Given the description of an element on the screen output the (x, y) to click on. 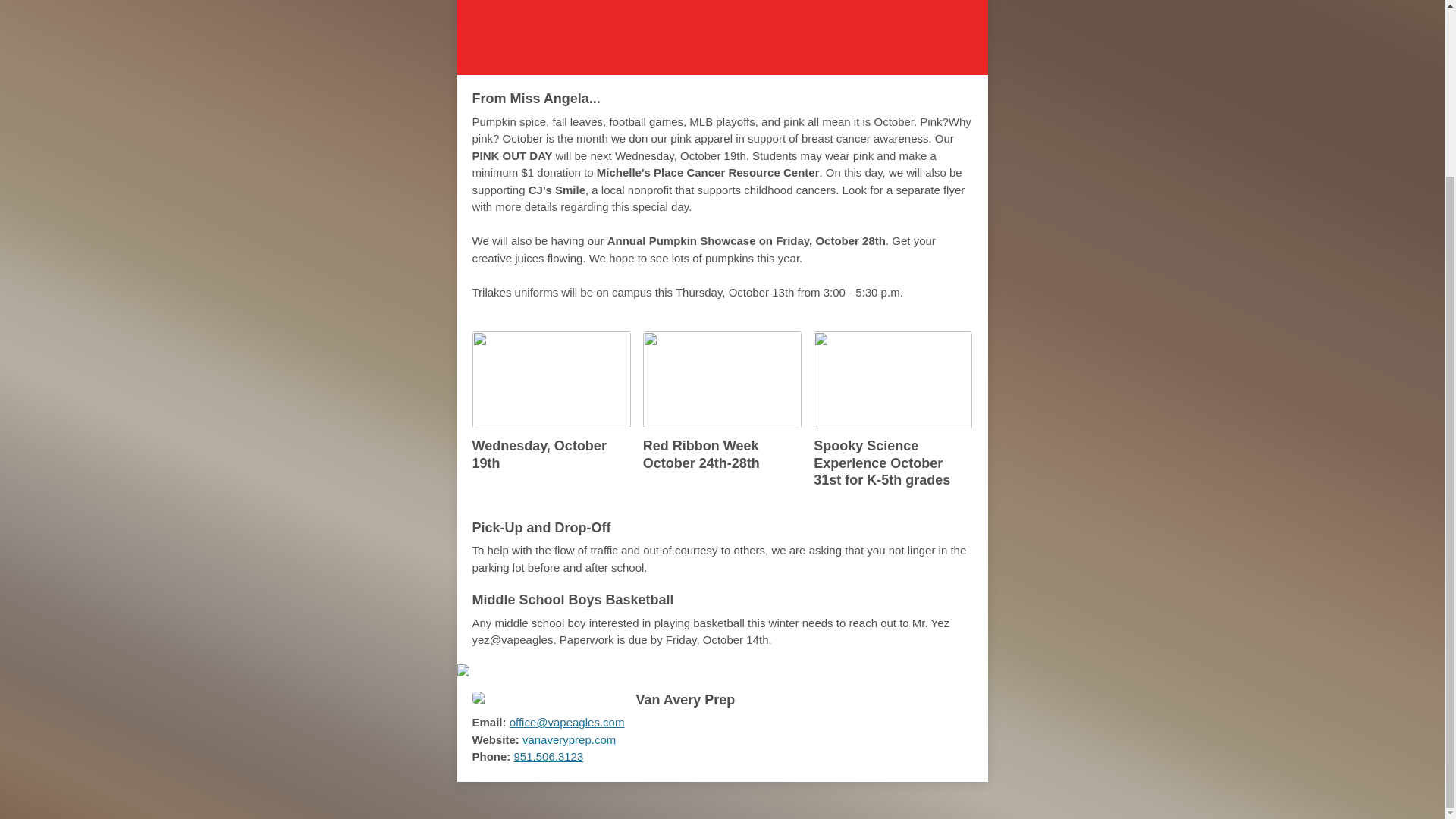
vanaveryprep.com (568, 739)
951.506.3123 (722, 37)
